Given the description of an element on the screen output the (x, y) to click on. 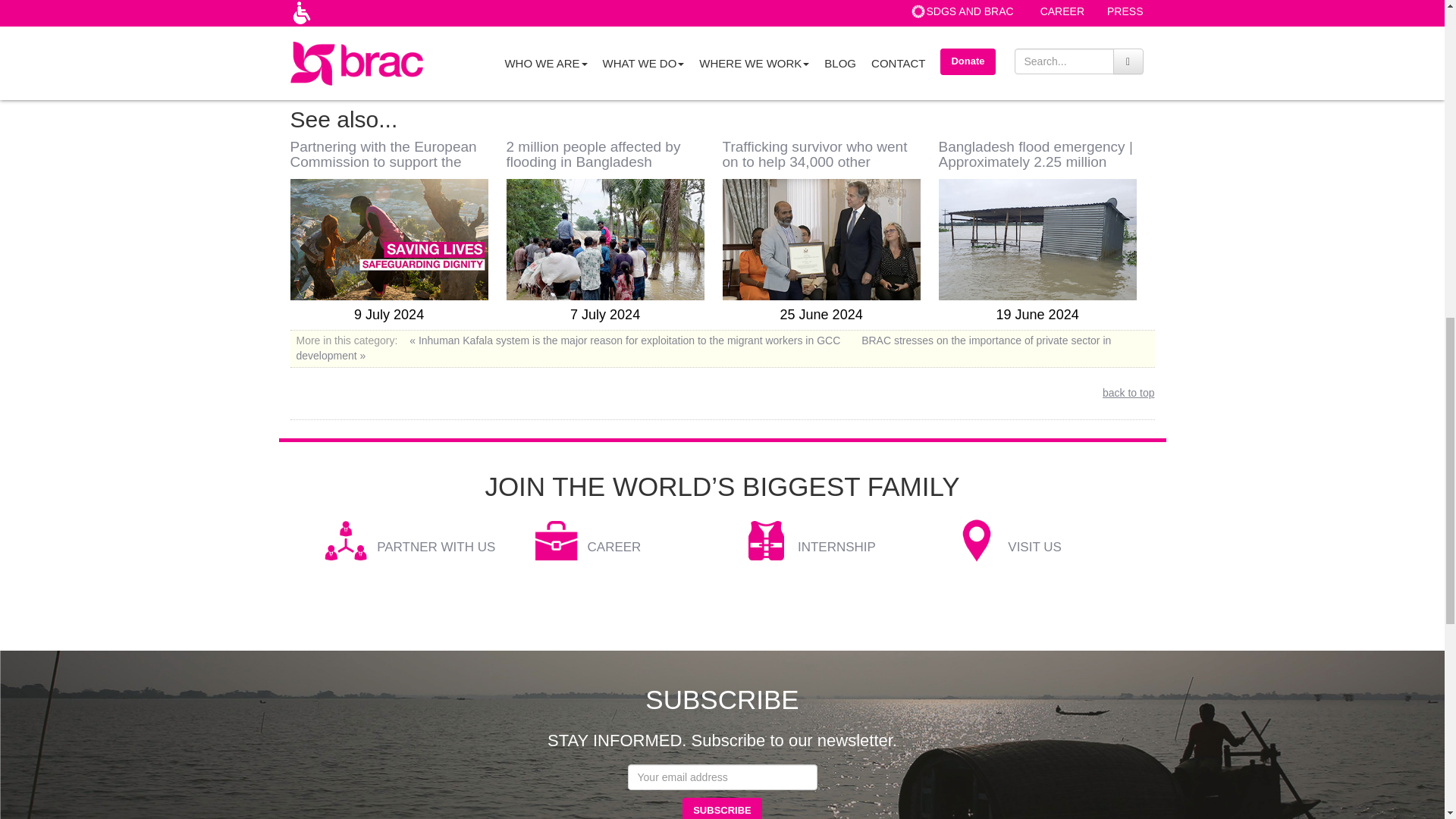
Subscribe (721, 808)
